Given the description of an element on the screen output the (x, y) to click on. 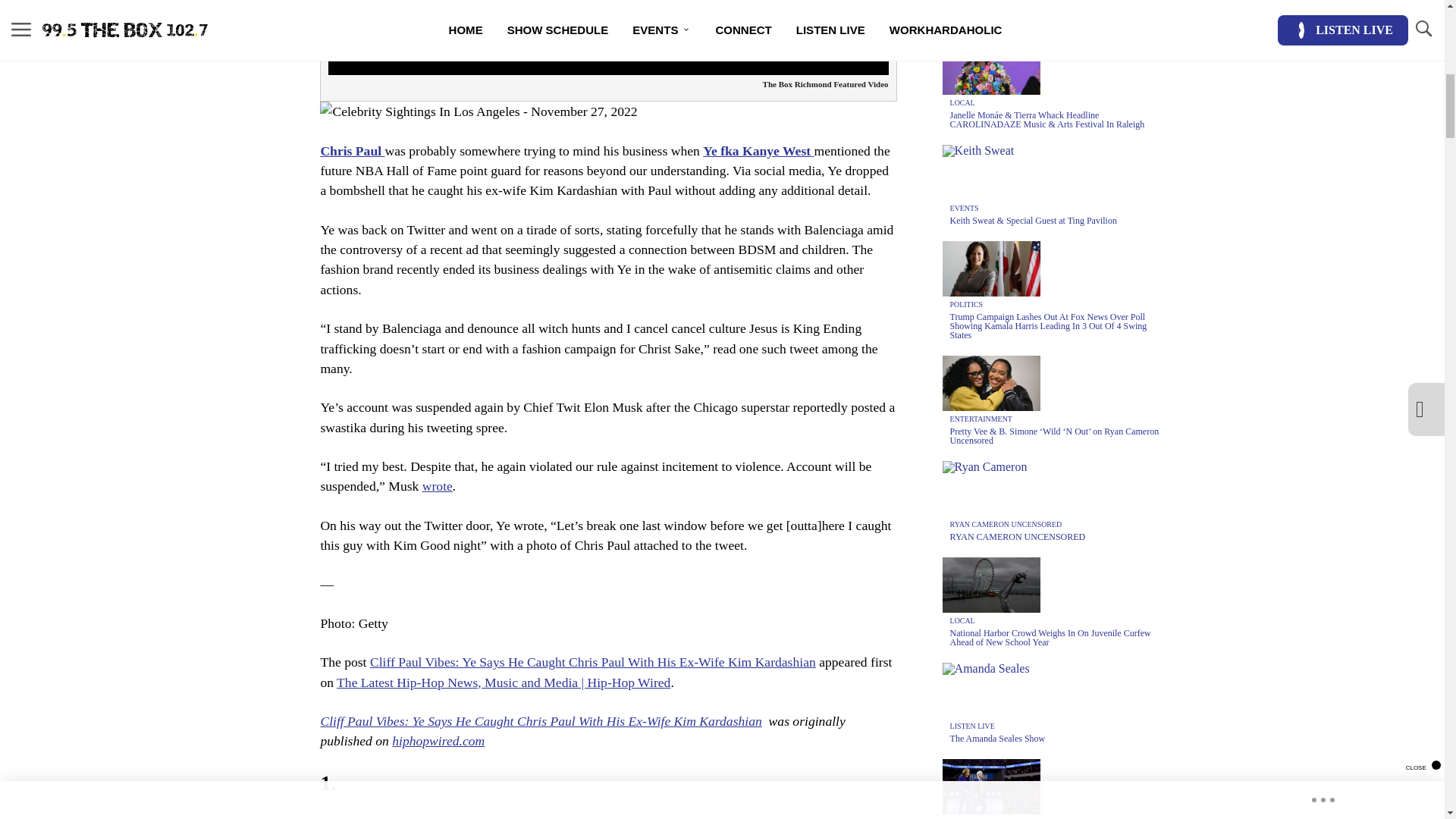
hiphopwired.com (437, 740)
wrote (437, 485)
Ye fka Kanye West (758, 150)
LOCAL (962, 102)
Chris Paul (352, 150)
EVENTS (964, 207)
